Given the description of an element on the screen output the (x, y) to click on. 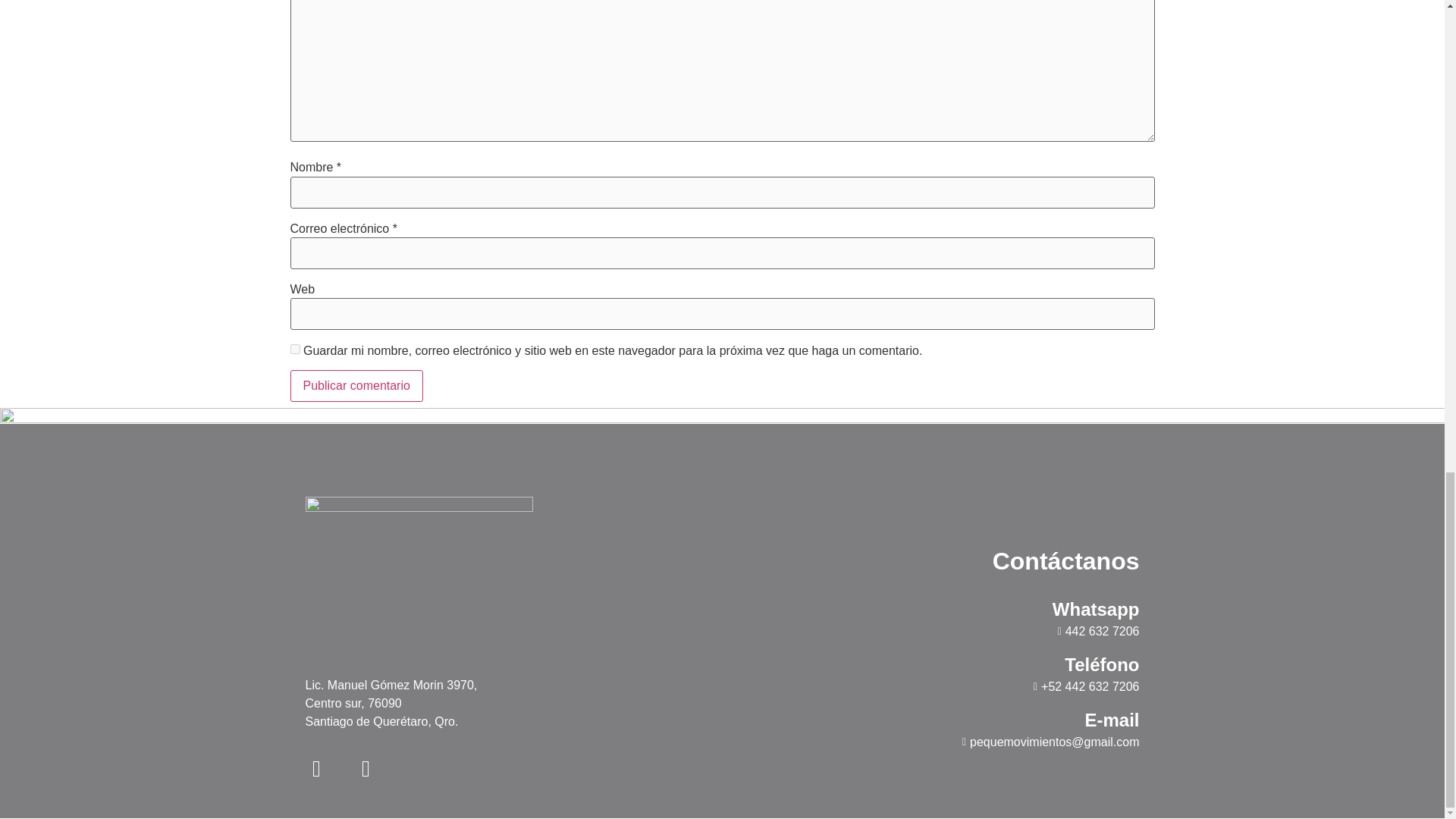
Publicar comentario (355, 386)
yes (294, 348)
Publicar comentario (355, 386)
